Given the description of an element on the screen output the (x, y) to click on. 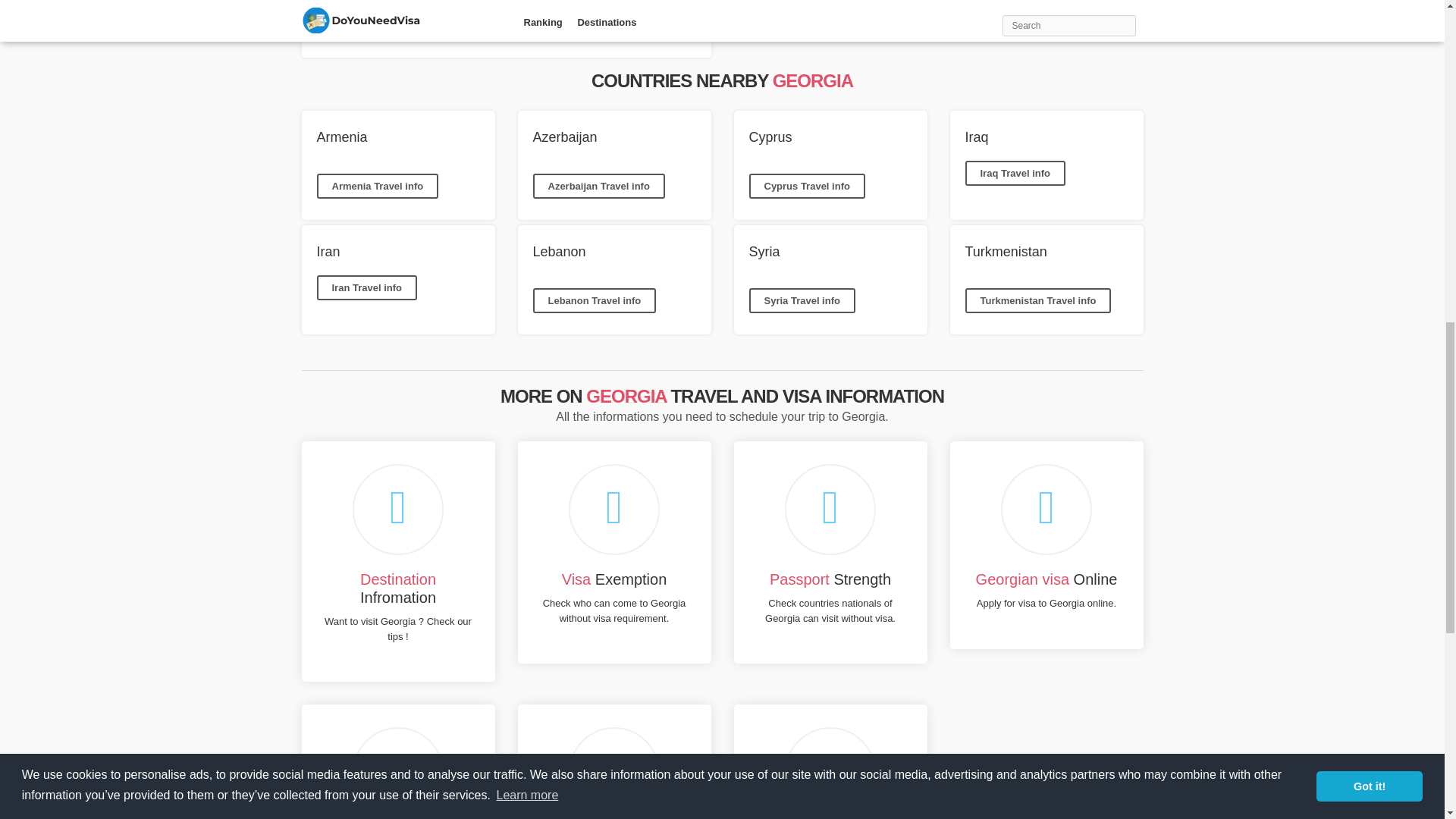
Tuberculosis Advice. (362, 21)
Lebanon Travel info (594, 300)
Syria Travel info (802, 300)
Avian Flu Advice. (354, 2)
Iraq Travel info (1013, 173)
Azerbaijan Travel info (597, 186)
Armenia Travel info (378, 186)
Cyprus Travel info (806, 186)
Turkmenistan Travel info (1036, 300)
Iran Travel info (366, 288)
